Given the description of an element on the screen output the (x, y) to click on. 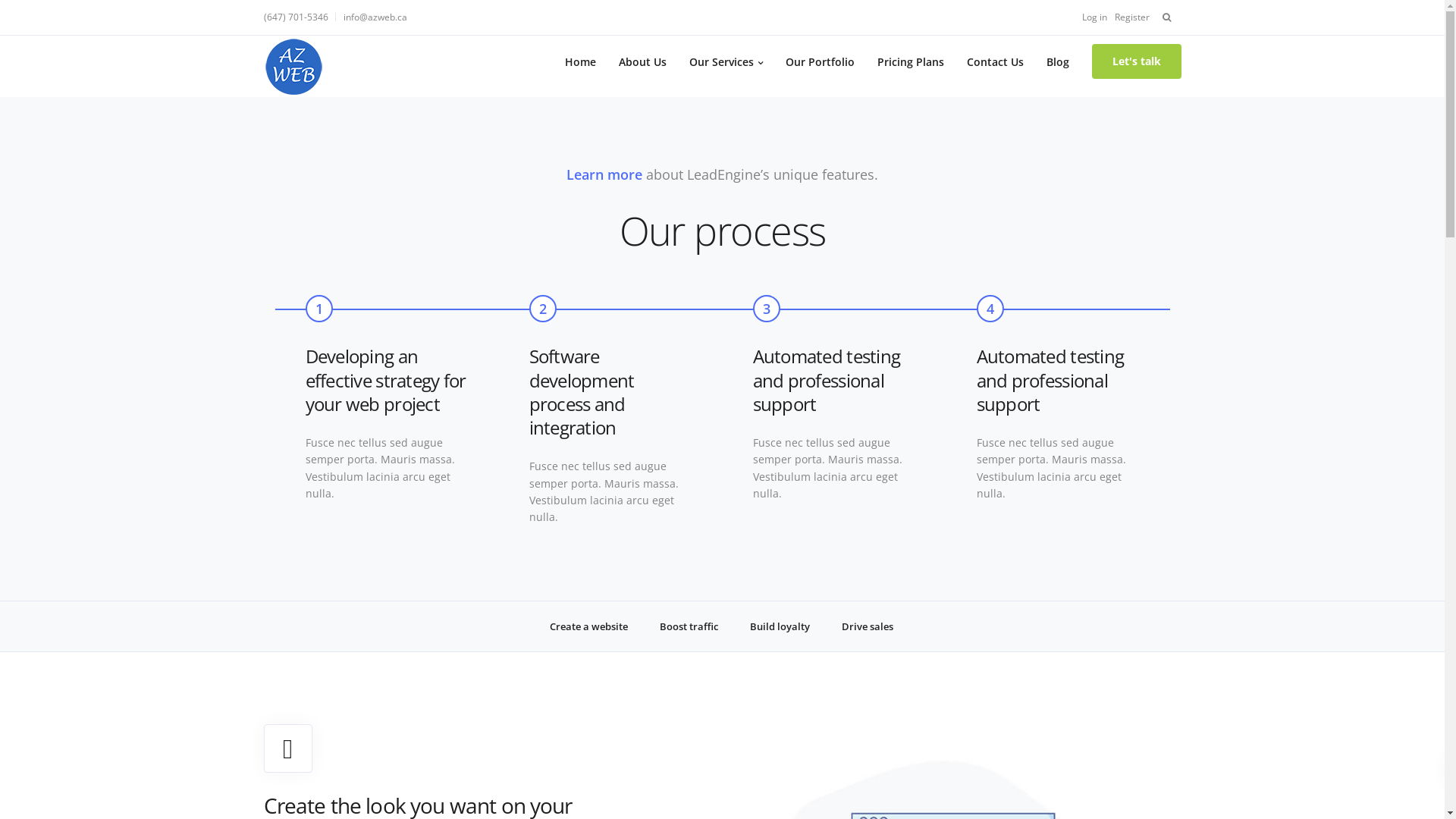
Learn more Element type: text (604, 174)
Boost traffic Element type: text (688, 626)
Blog Element type: text (1056, 61)
Pricing Plans Element type: text (910, 61)
Our Portfolio Element type: text (819, 61)
Our Services Element type: text (725, 61)
Let's talk Element type: text (1136, 60)
Home Element type: text (580, 61)
(647) 701-5346 Element type: text (299, 16)
Drive sales Element type: text (867, 626)
Log in Element type: text (1093, 16)
Build loyalty Element type: text (779, 626)
info@azweb.ca Element type: text (374, 16)
Create a website Element type: text (588, 626)
Register Element type: text (1131, 16)
Contact Us Element type: text (995, 61)
About Us Element type: text (641, 61)
